Given the description of an element on the screen output the (x, y) to click on. 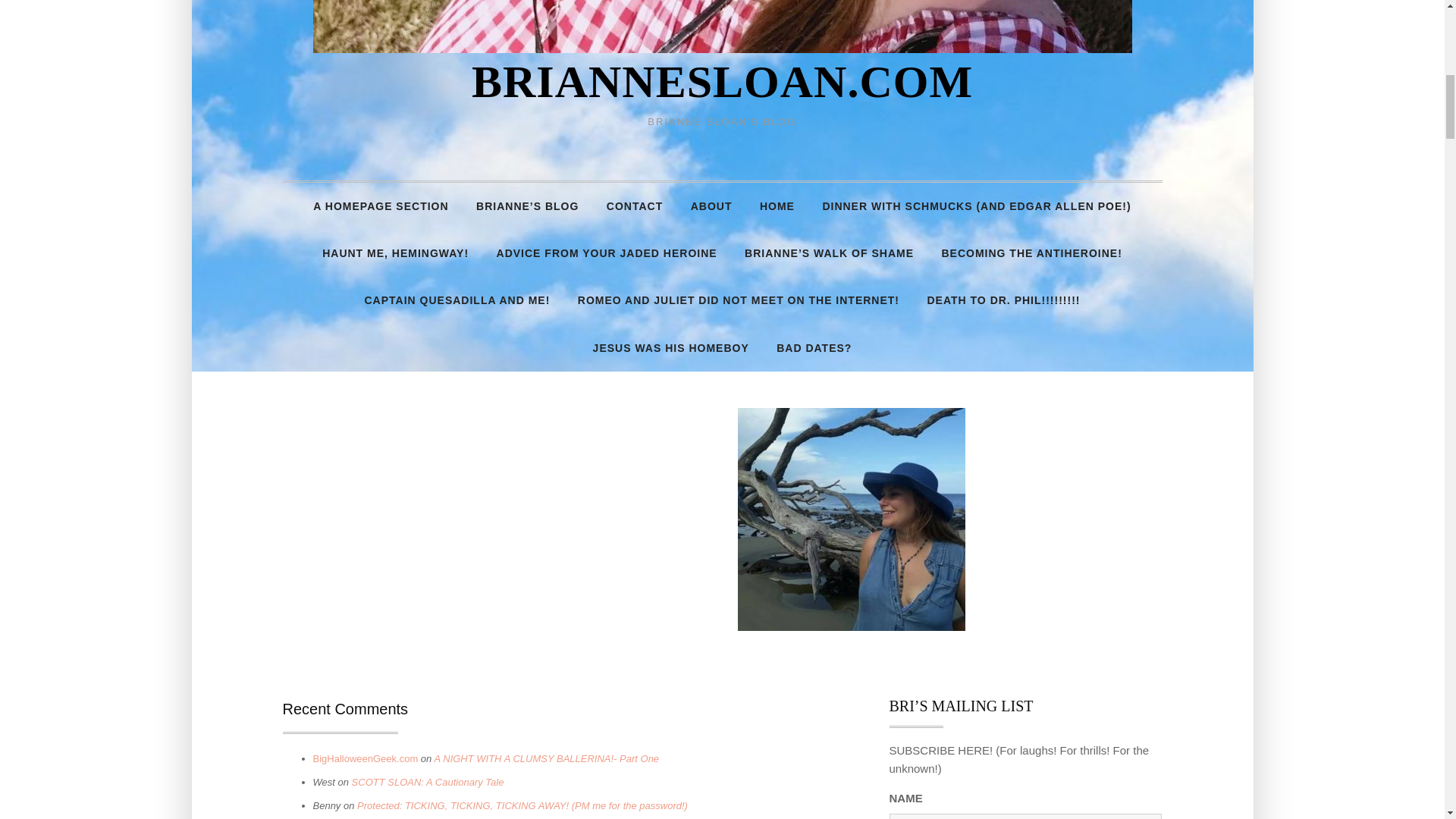
ABOUT (711, 206)
CAPTAIN QUESADILLA AND ME! (457, 299)
HAUNT ME, HEMINGWAY! (395, 253)
BAD DATES? (813, 347)
BECOMING THE ANTIHEROINE! (1031, 253)
DEATH TO DR. PHIL!!!!!!!!! (1003, 299)
CONTACT (634, 206)
JESUS WAS HIS HOMEBOY (670, 347)
HOME (777, 206)
A HOMEPAGE SECTION (380, 206)
ROMEO AND JULIET DID NOT MEET ON THE INTERNET! (738, 299)
SCOTT SLOAN: A Cautionary Tale (427, 781)
ADVICE FROM YOUR JADED HEROINE (606, 253)
BRIANNESLOAN.COM (721, 81)
A NIGHT WITH A CLUMSY BALLERINA!- Part One (546, 758)
